Given the description of an element on the screen output the (x, y) to click on. 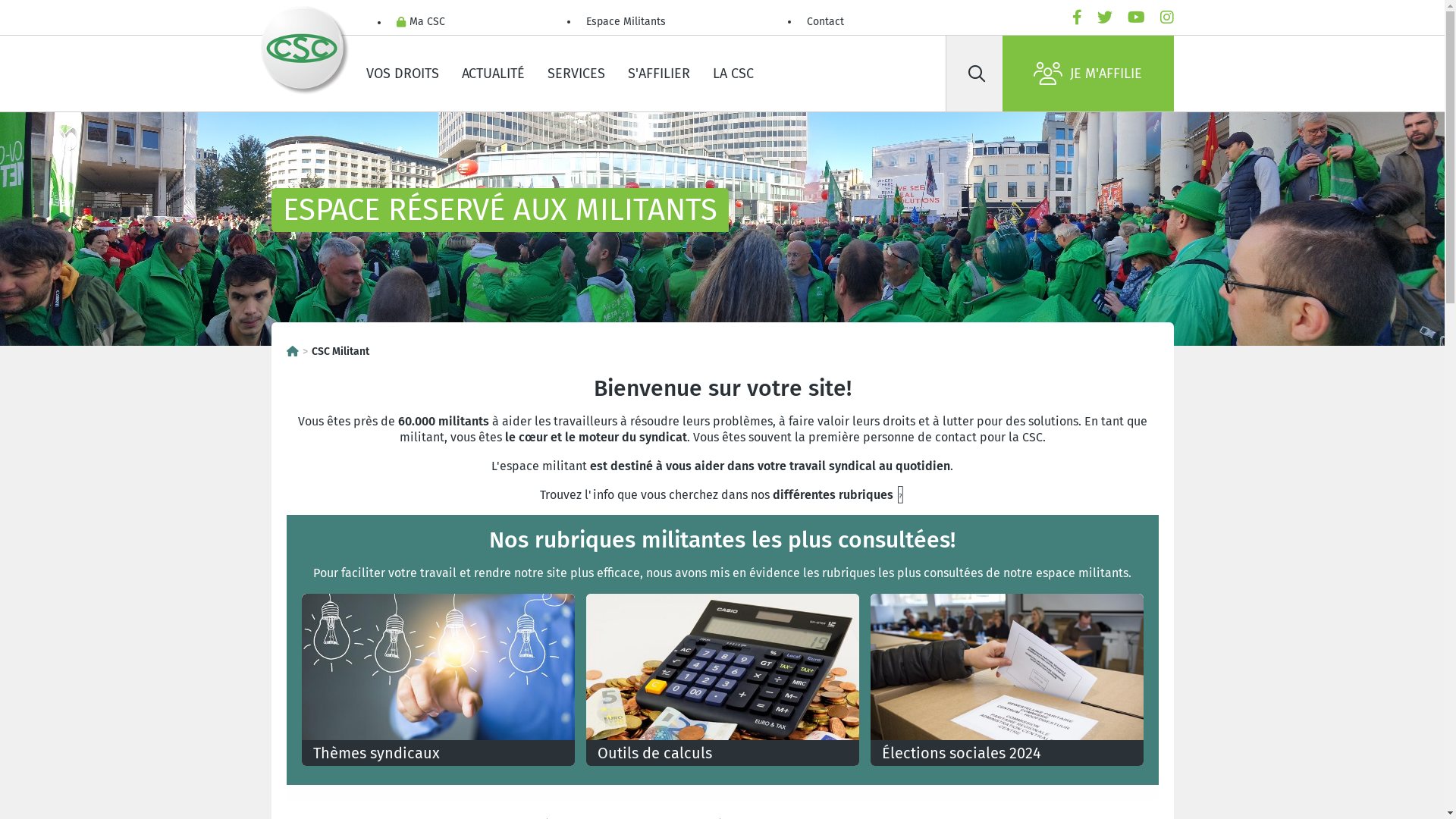
S'AFFILIER Element type: text (657, 73)
Espace Militants Element type: text (624, 22)
Contact Element type: text (825, 22)
Page d'accueil Element type: hover (292, 351)
ligne Element type: hover (722, 792)
Ma CSC Element type: text (419, 22)
ACV-RGB-165px-tcm183-358090 Element type: hover (304, 50)
LA CSC Element type: text (732, 73)
VOS DROITS Element type: text (402, 73)
SERVICES Element type: text (575, 73)
Outils de calculs Element type: text (721, 679)
JE M'AFFILIE Element type: text (1087, 73)
